Given the description of an element on the screen output the (x, y) to click on. 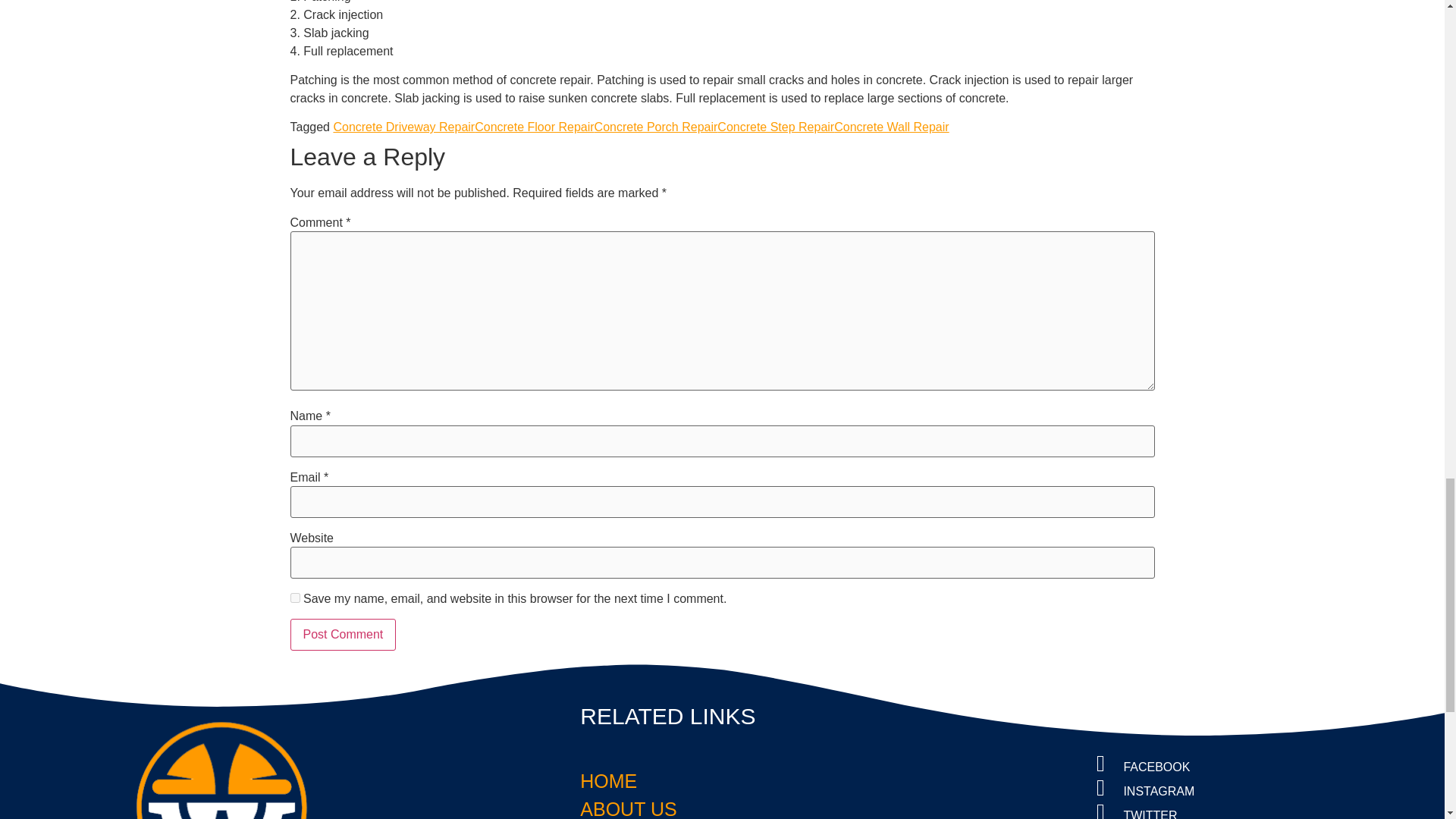
Concrete Driveway Repair (403, 126)
Post Comment (342, 634)
Concrete Wall Repair (891, 126)
yes (294, 597)
Concrete Porch Repair (655, 126)
Post Comment (342, 634)
Concrete Step Repair (775, 126)
Concrete Floor Repair (534, 126)
